Given the description of an element on the screen output the (x, y) to click on. 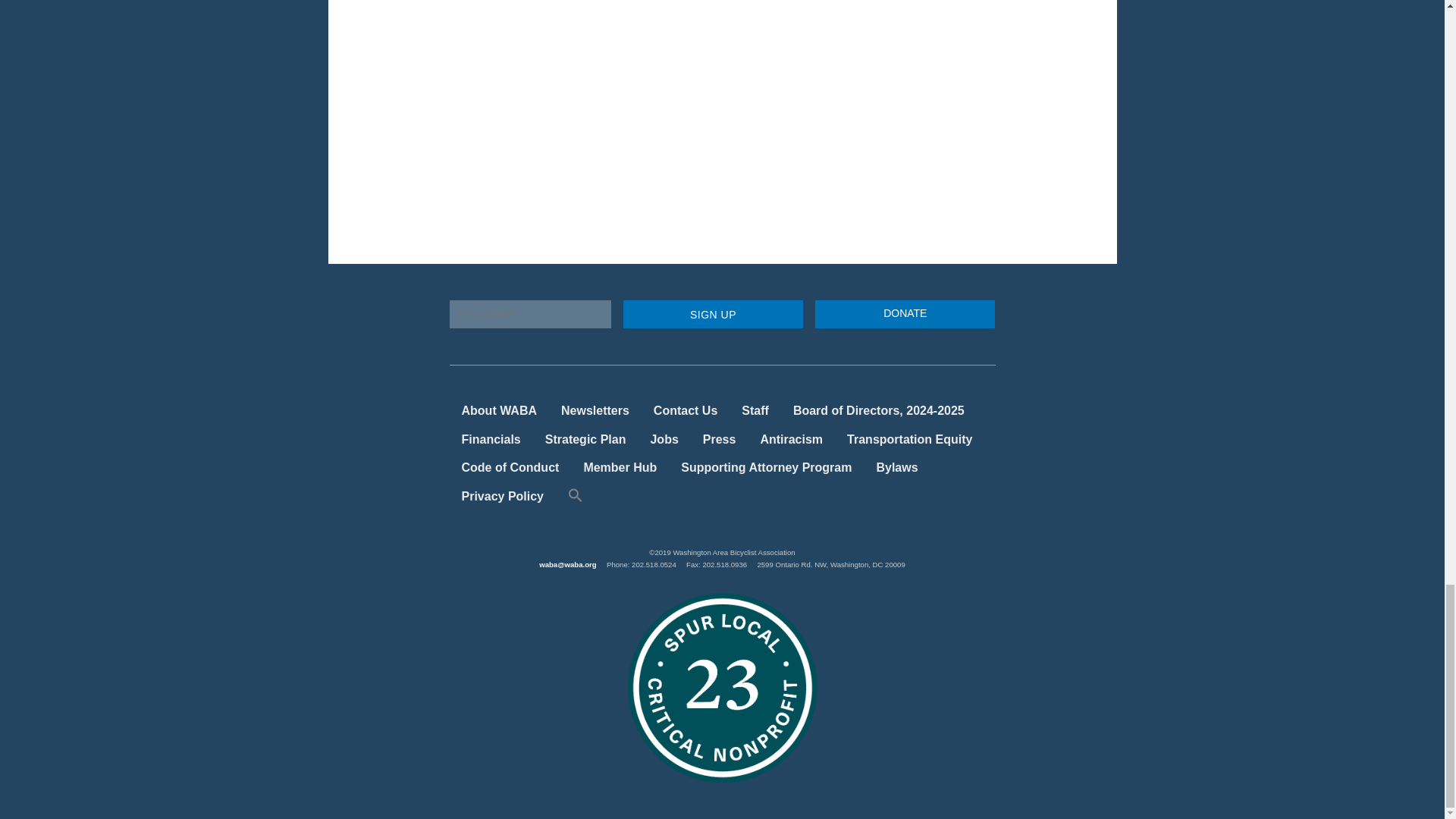
Sign Up (713, 314)
Email (529, 314)
